Given the description of an element on the screen output the (x, y) to click on. 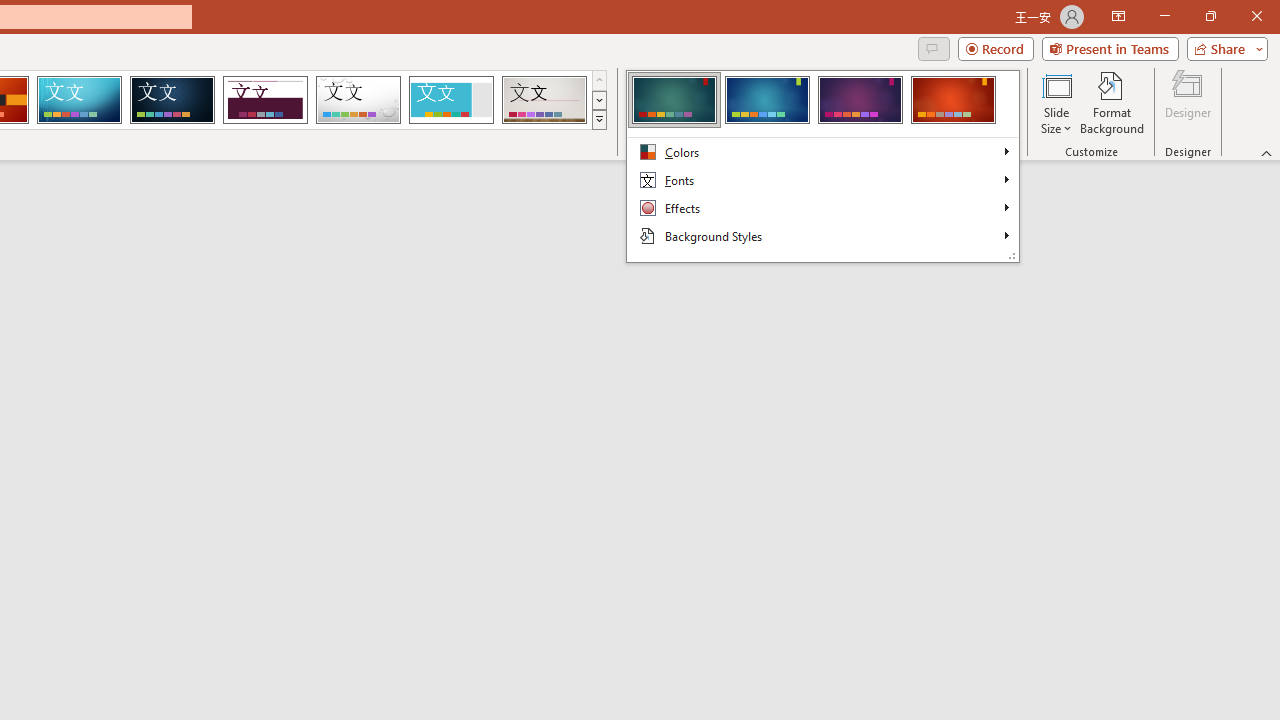
Droplet Loading Preview... (358, 100)
Class: Net UI Tool Window (822, 165)
Damask Loading Preview... (171, 100)
